Given the description of an element on the screen output the (x, y) to click on. 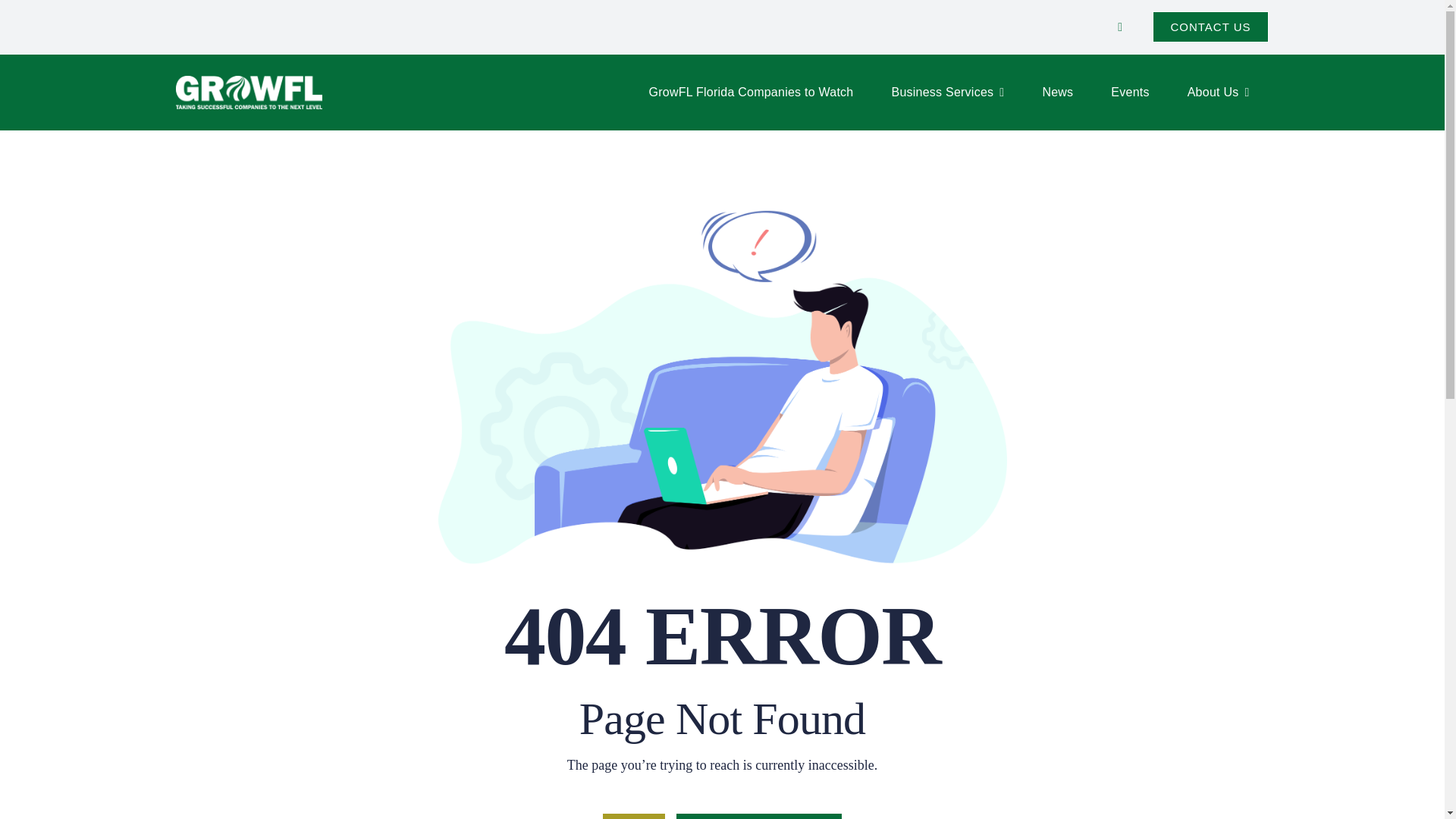
Contact (1210, 26)
GrowFL Florida Companies to Watch (751, 92)
About Us (1218, 92)
Events (1129, 92)
Go To Homepage (759, 816)
Business Services (947, 92)
CONTACT US (1210, 26)
News (1057, 92)
